Given the description of an element on the screen output the (x, y) to click on. 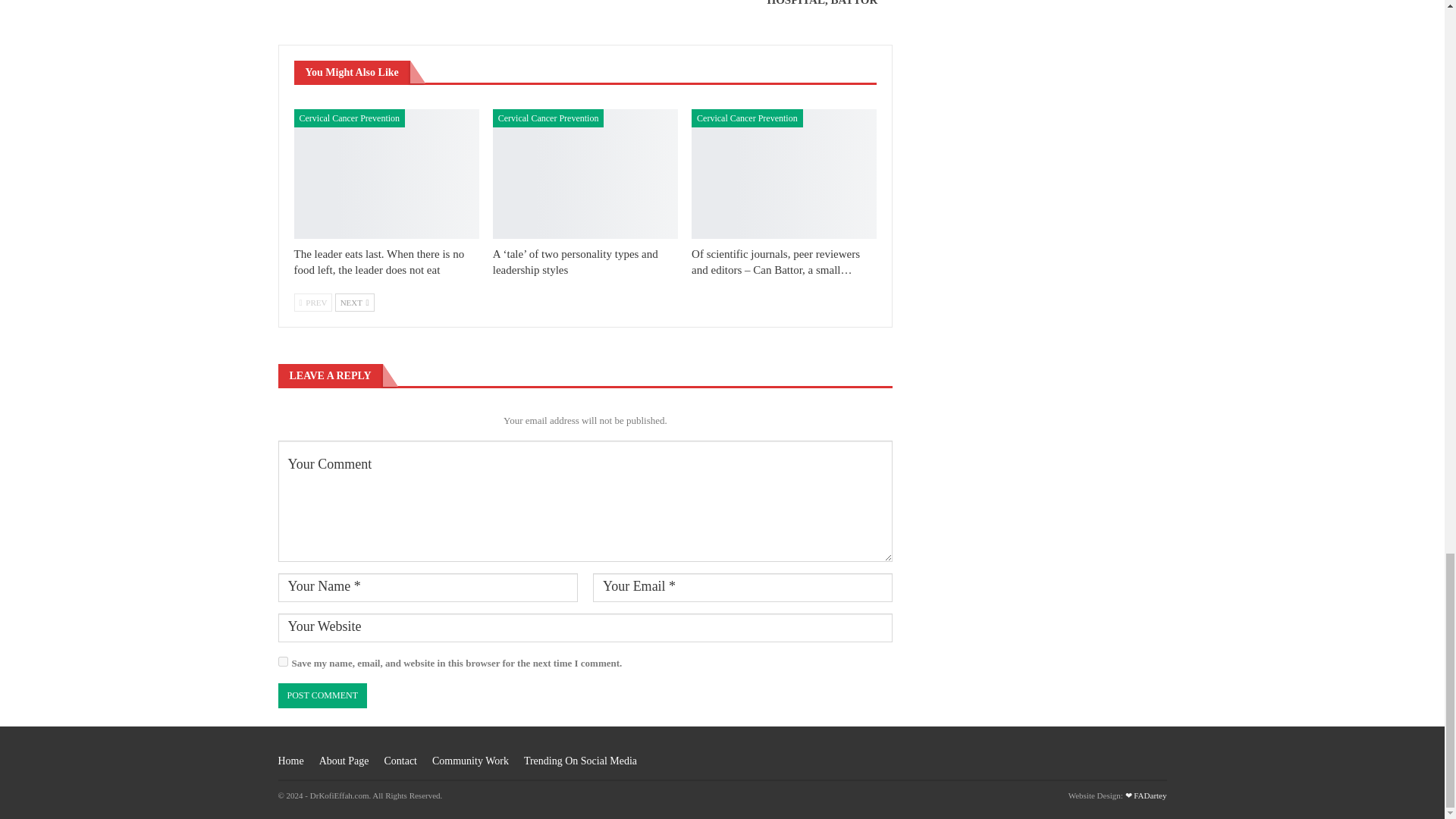
yes (282, 661)
Post Comment (322, 695)
